Given the description of an element on the screen output the (x, y) to click on. 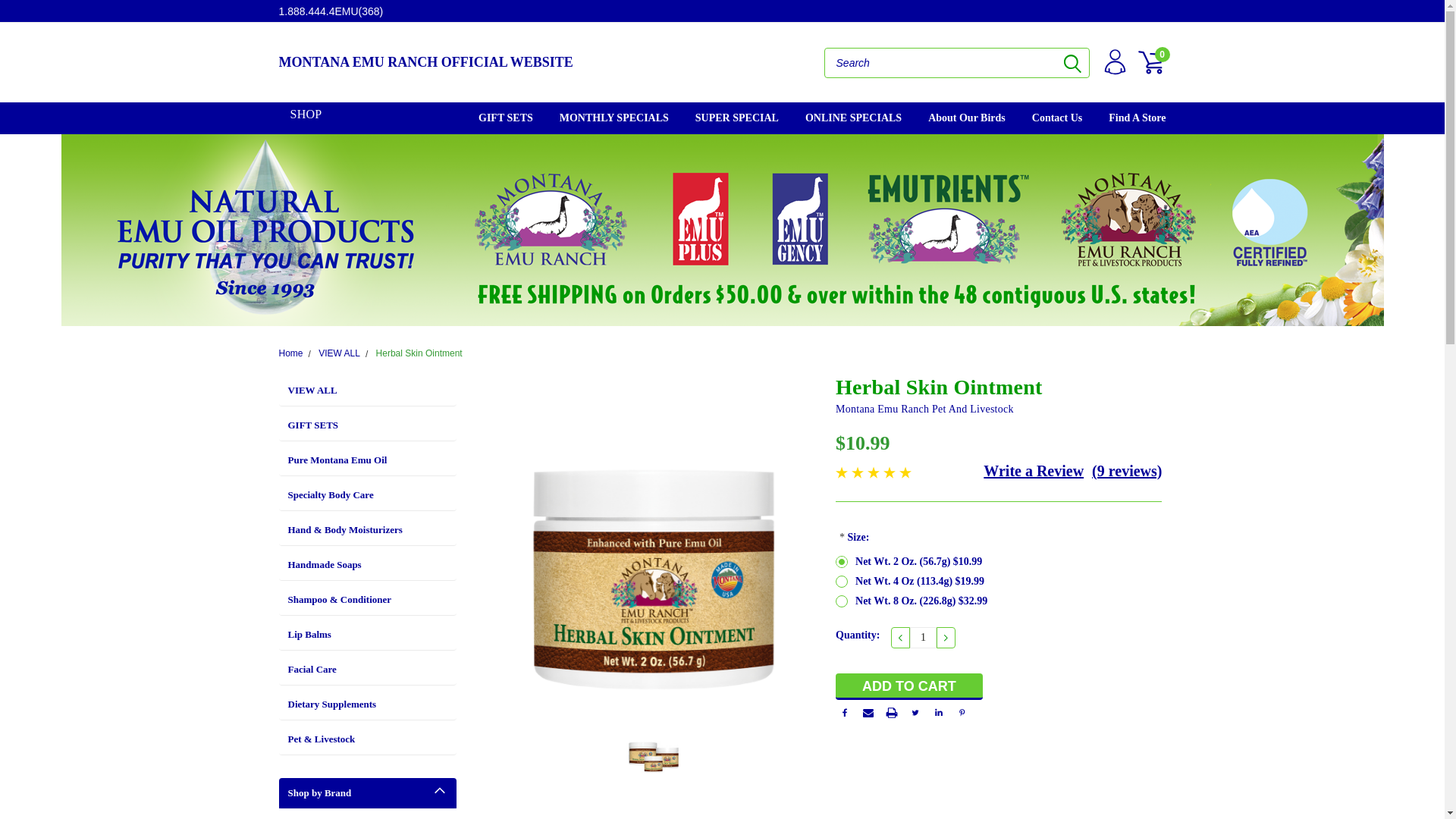
0 (1151, 62)
Herbal Skin Ointment (653, 749)
Herbal Skin Ointment (653, 542)
Add to Cart (908, 686)
1 (923, 637)
MONTANA EMU RANCH OFFICIAL WEBSITE (500, 62)
